Given the description of an element on the screen output the (x, y) to click on. 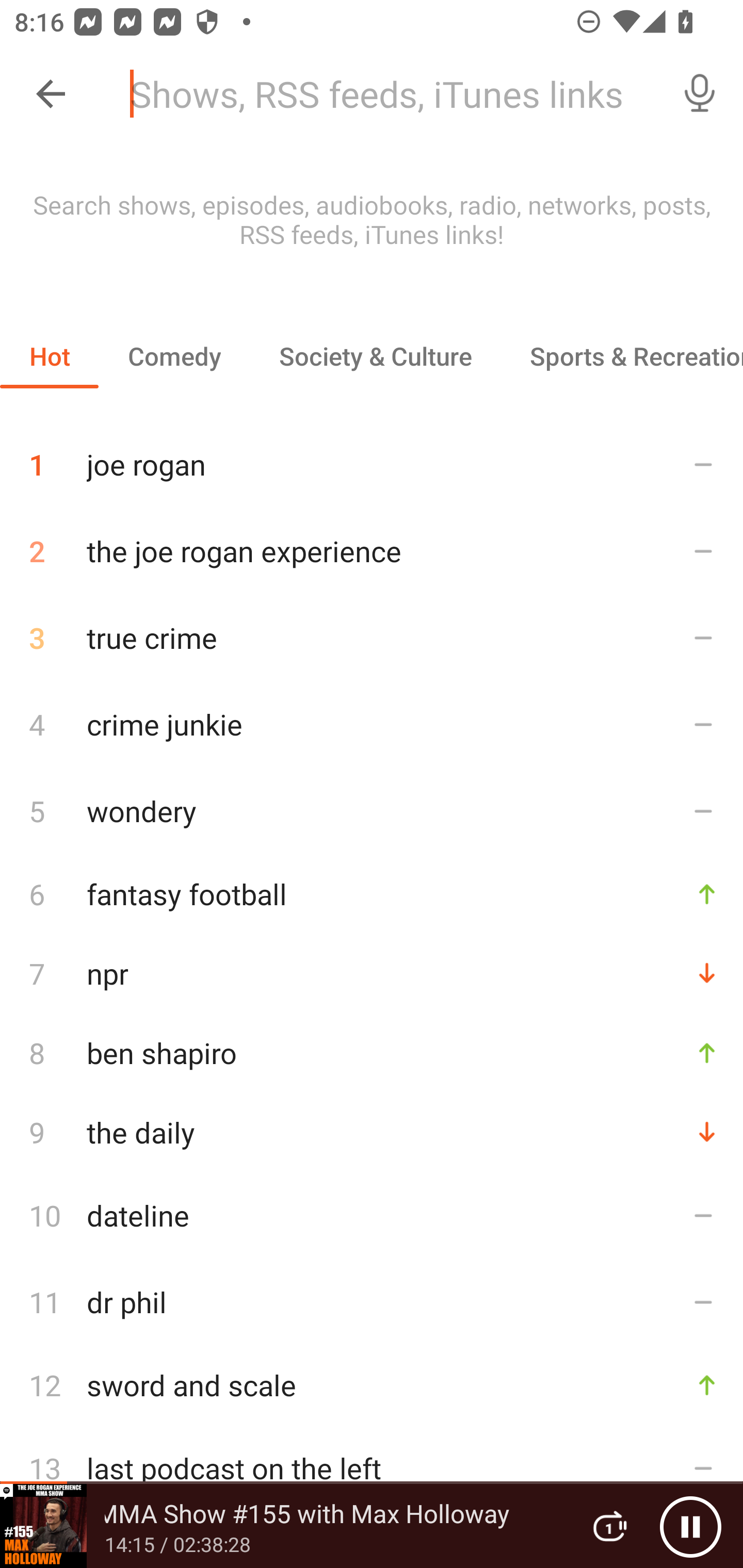
Collapse (50, 93)
Voice Search (699, 93)
Shows, RSS feeds, iTunes links (385, 94)
Hot (49, 355)
Comedy (173, 355)
Society & Culture (374, 355)
Sports & Recreation (621, 355)
1 joe rogan (371, 457)
2 the joe rogan experience (371, 551)
3 true crime (371, 637)
4 crime junkie (371, 723)
5 wondery (371, 810)
6 fantasy football (371, 893)
7 npr (371, 972)
8 ben shapiro (371, 1052)
9 the daily (371, 1131)
10 dateline (371, 1215)
11 dr phil (371, 1302)
12 sword and scale (371, 1385)
13 last podcast on the left (371, 1468)
Pause (690, 1526)
